Given the description of an element on the screen output the (x, y) to click on. 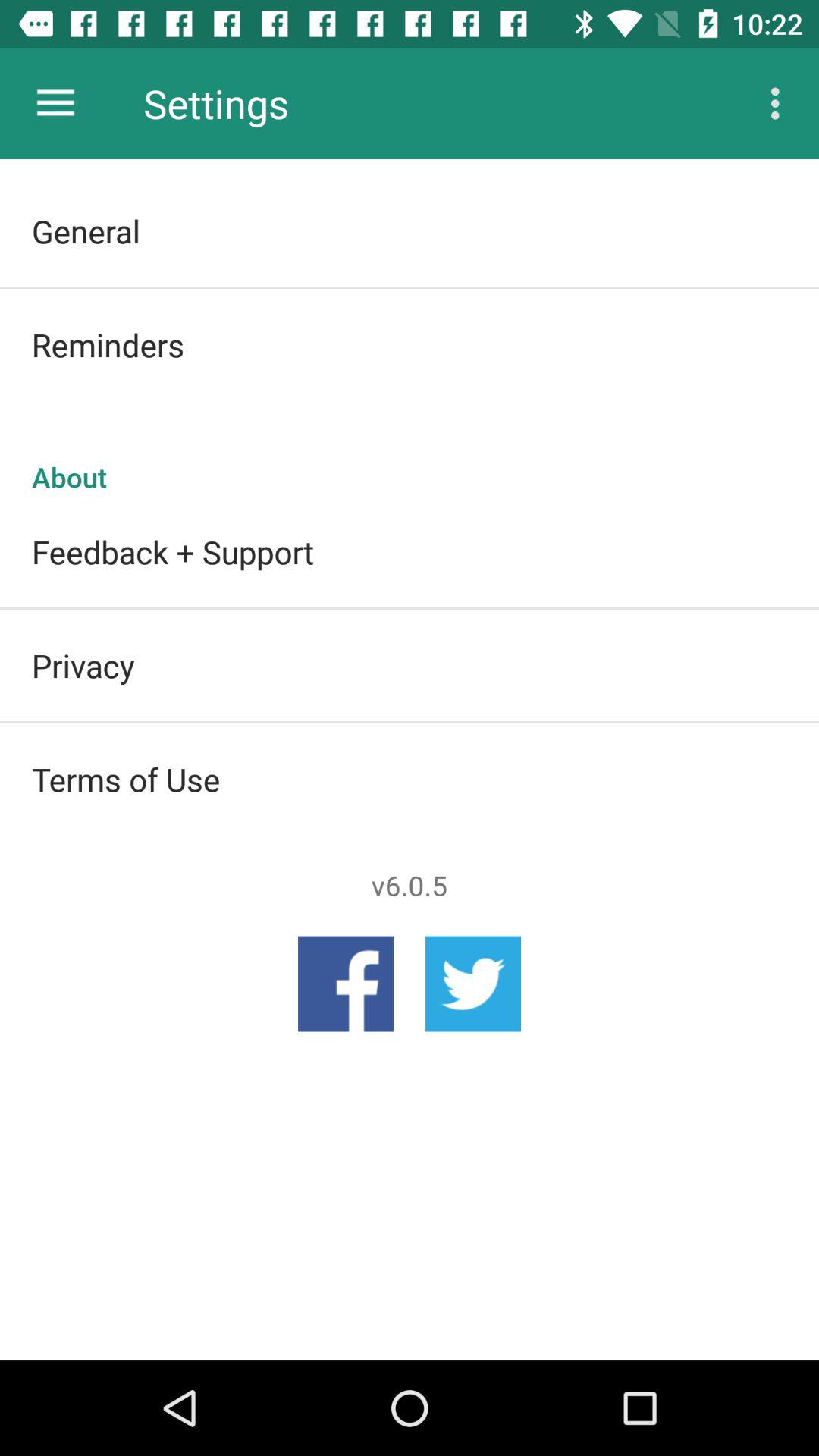
open reminders (409, 344)
